Given the description of an element on the screen output the (x, y) to click on. 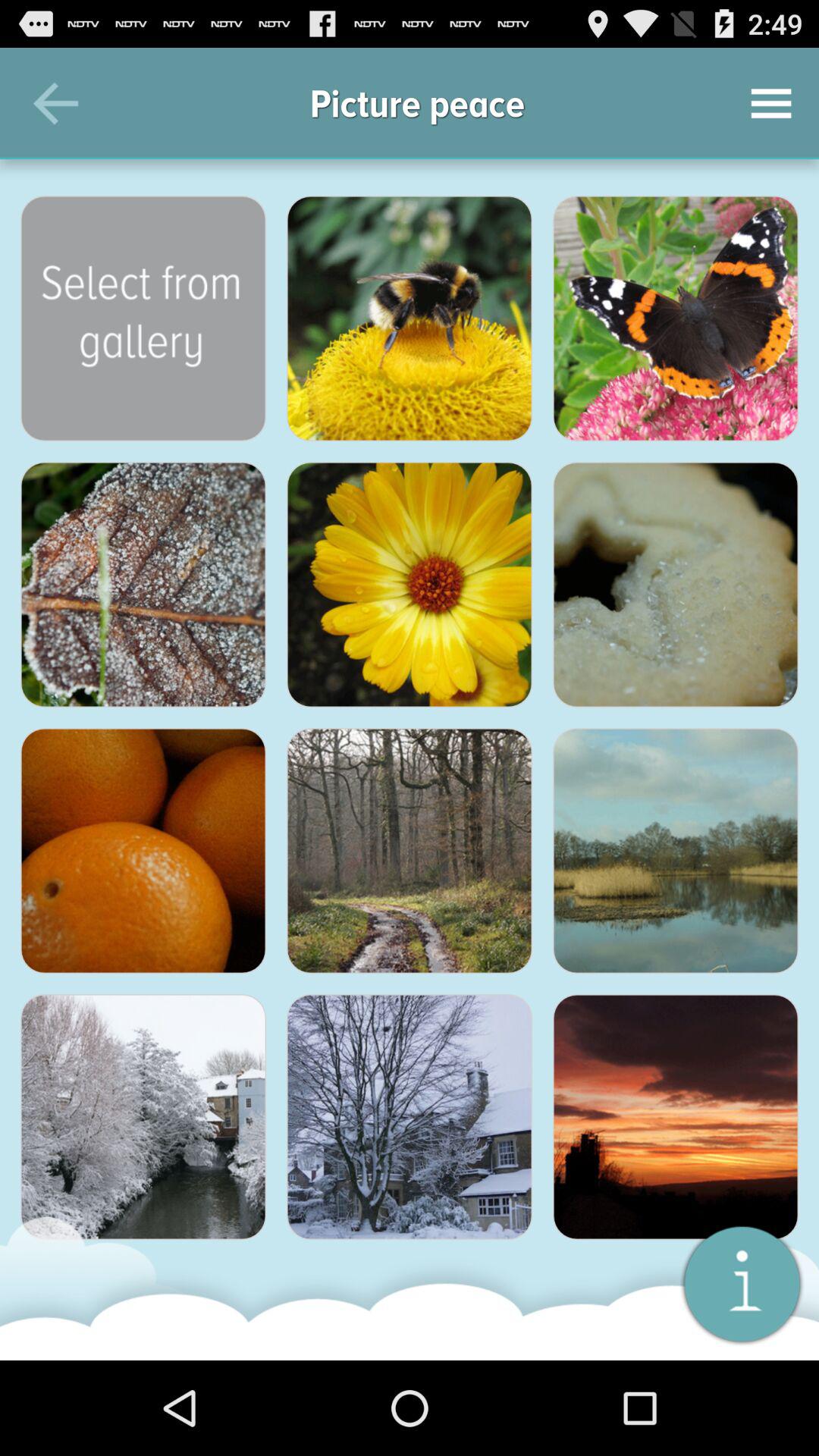
go to choose the pitcher (143, 318)
